Given the description of an element on the screen output the (x, y) to click on. 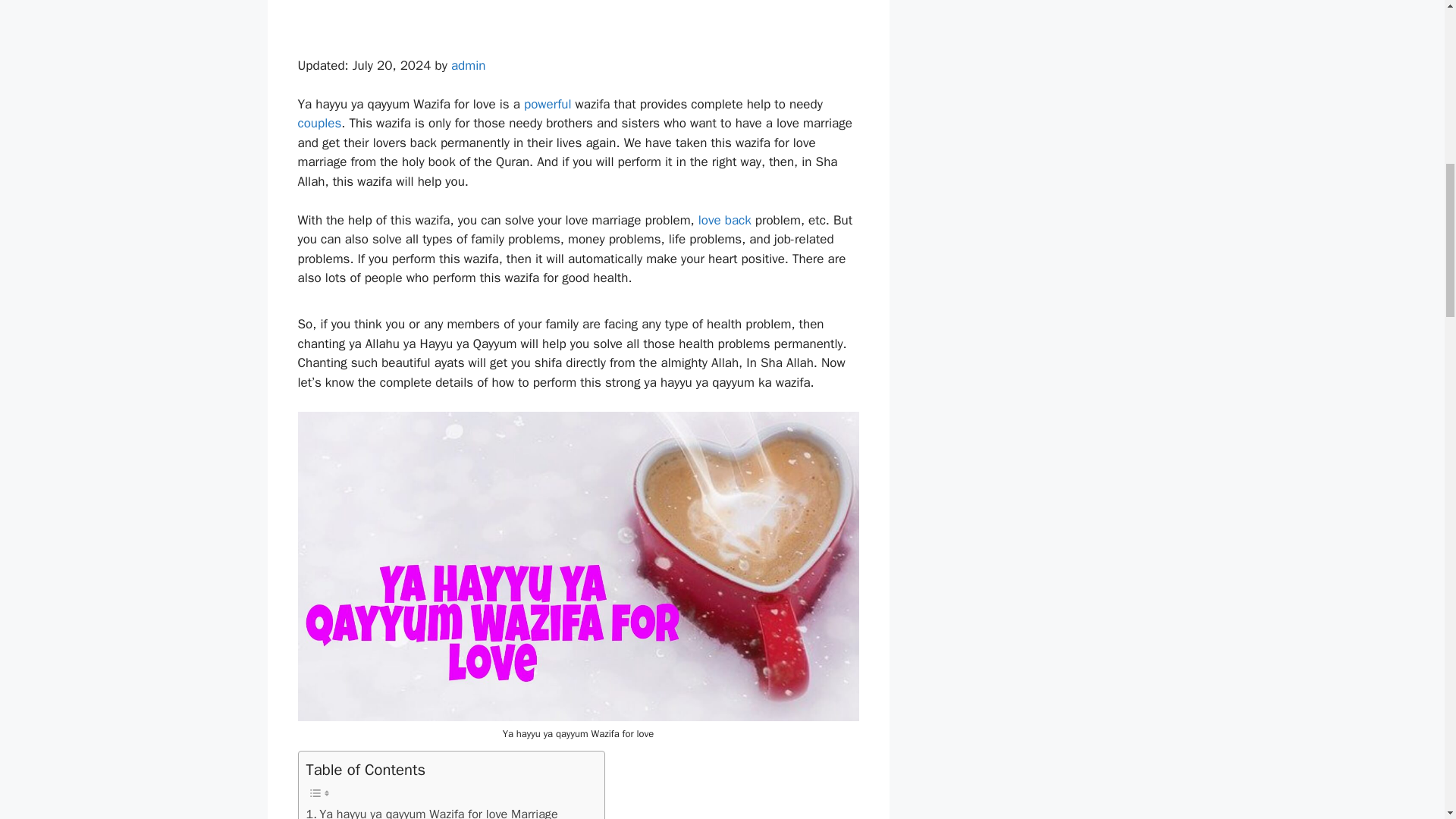
Ya hayyu ya qayyum Wazifa for love Marriage (431, 811)
couples (318, 123)
love back (724, 220)
Advertisement (578, 24)
powerful (547, 104)
admin (468, 65)
Ya hayyu ya qayyum Wazifa for love Marriage (431, 811)
